Given the description of an element on the screen output the (x, y) to click on. 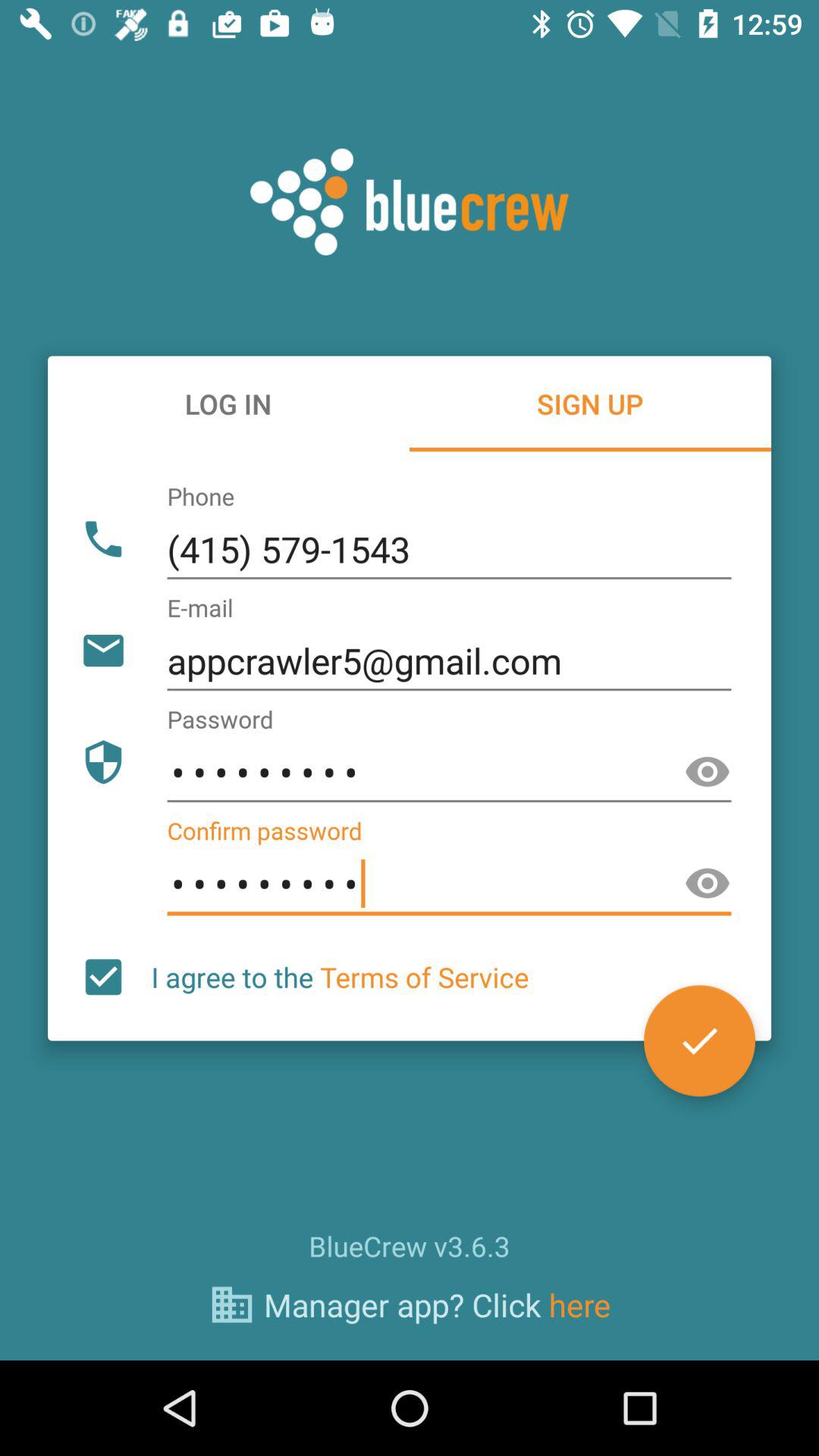
open the item above the bluecrew v3 6 (339, 976)
